Given the description of an element on the screen output the (x, y) to click on. 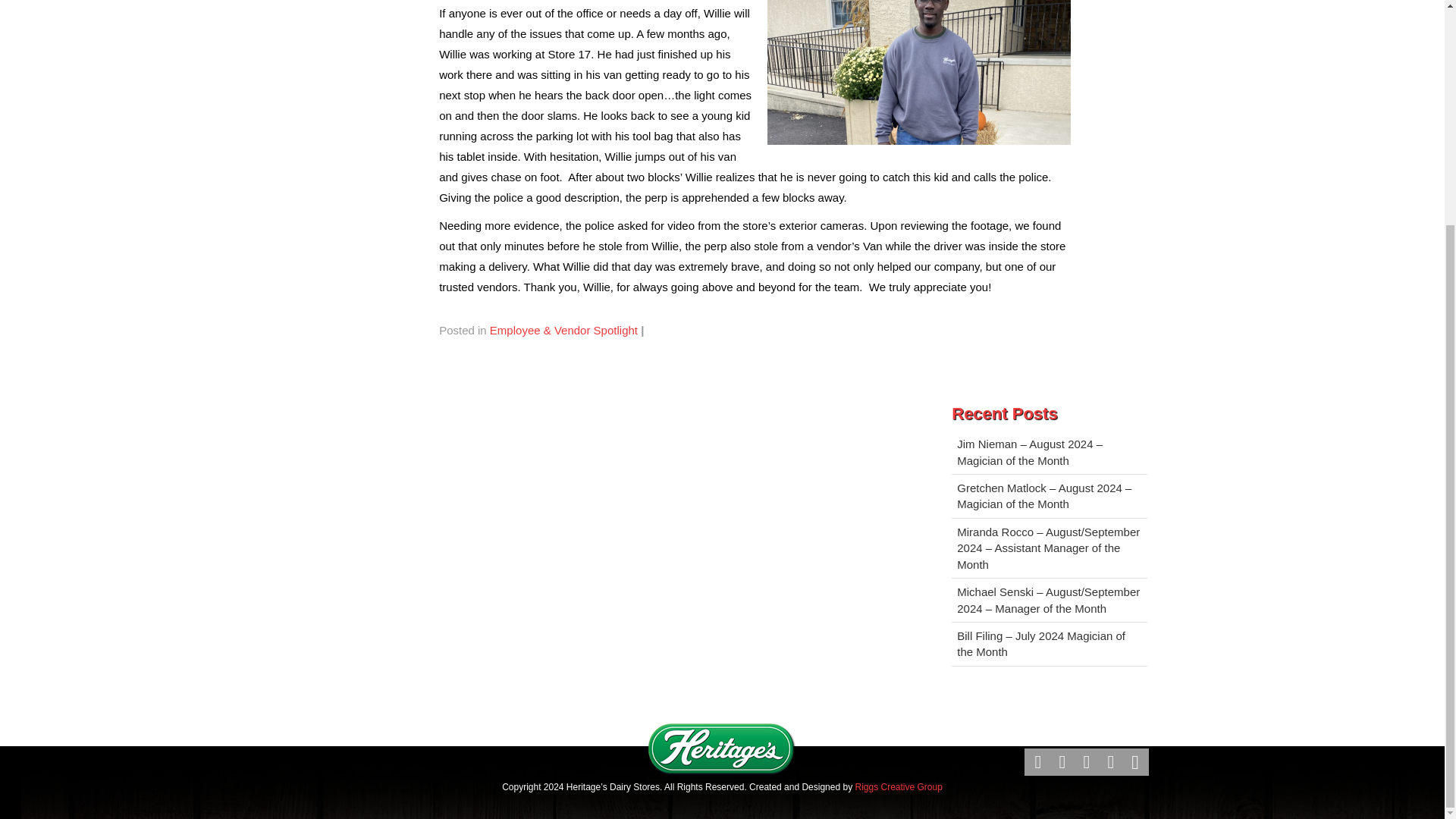
Facebook (1038, 761)
Instagram (1134, 761)
LinkedIn (1086, 761)
Riggs Creative Group (898, 787)
Google (1061, 761)
Twitter (1110, 761)
PRIVACY POLICY (668, 714)
